Given the description of an element on the screen output the (x, y) to click on. 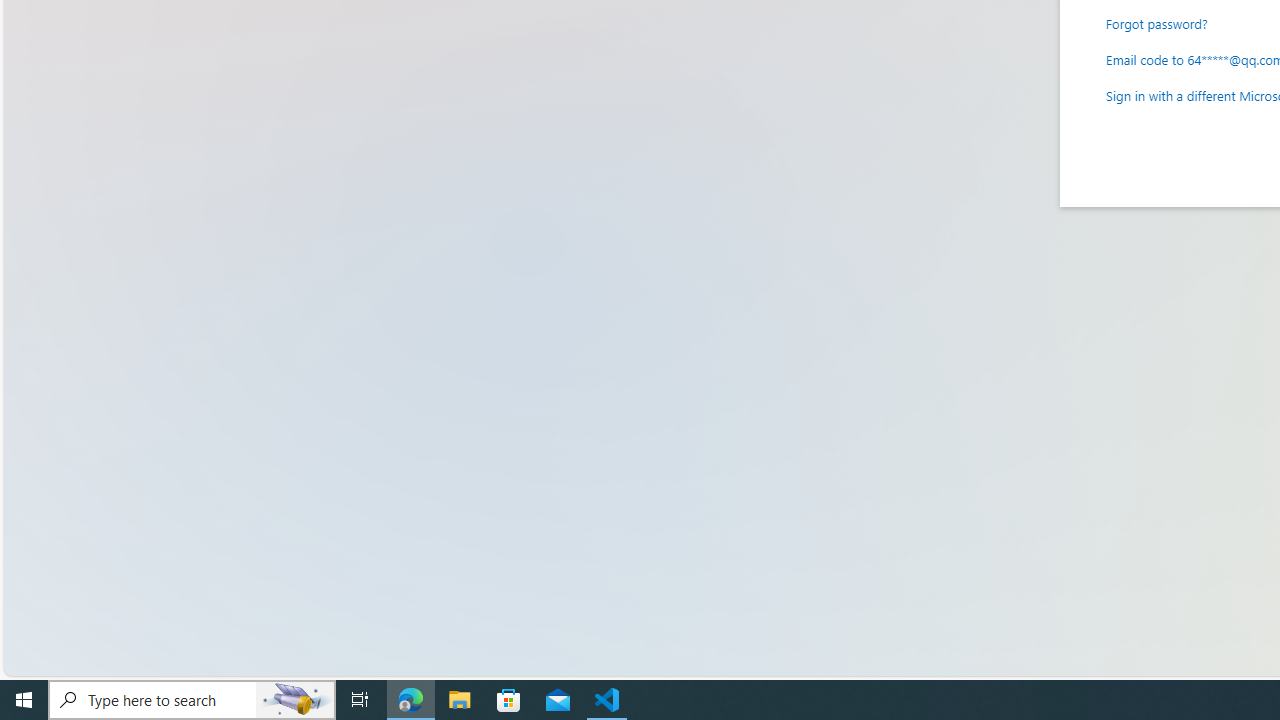
Forgot password? (1157, 22)
